Given the description of an element on the screen output the (x, y) to click on. 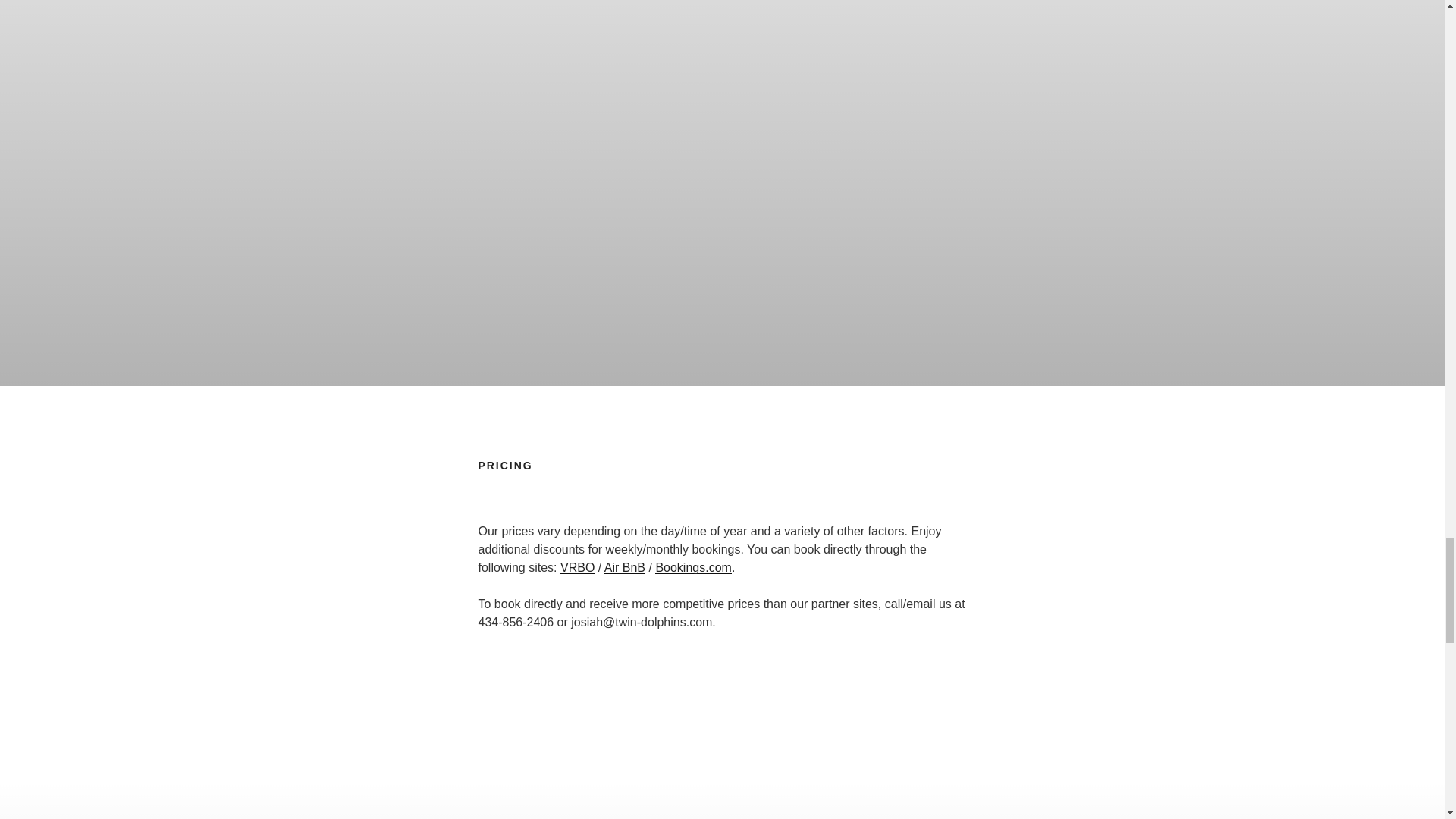
Bookings.com (693, 567)
VRBO (577, 567)
Air BnB (624, 567)
